Given the description of an element on the screen output the (x, y) to click on. 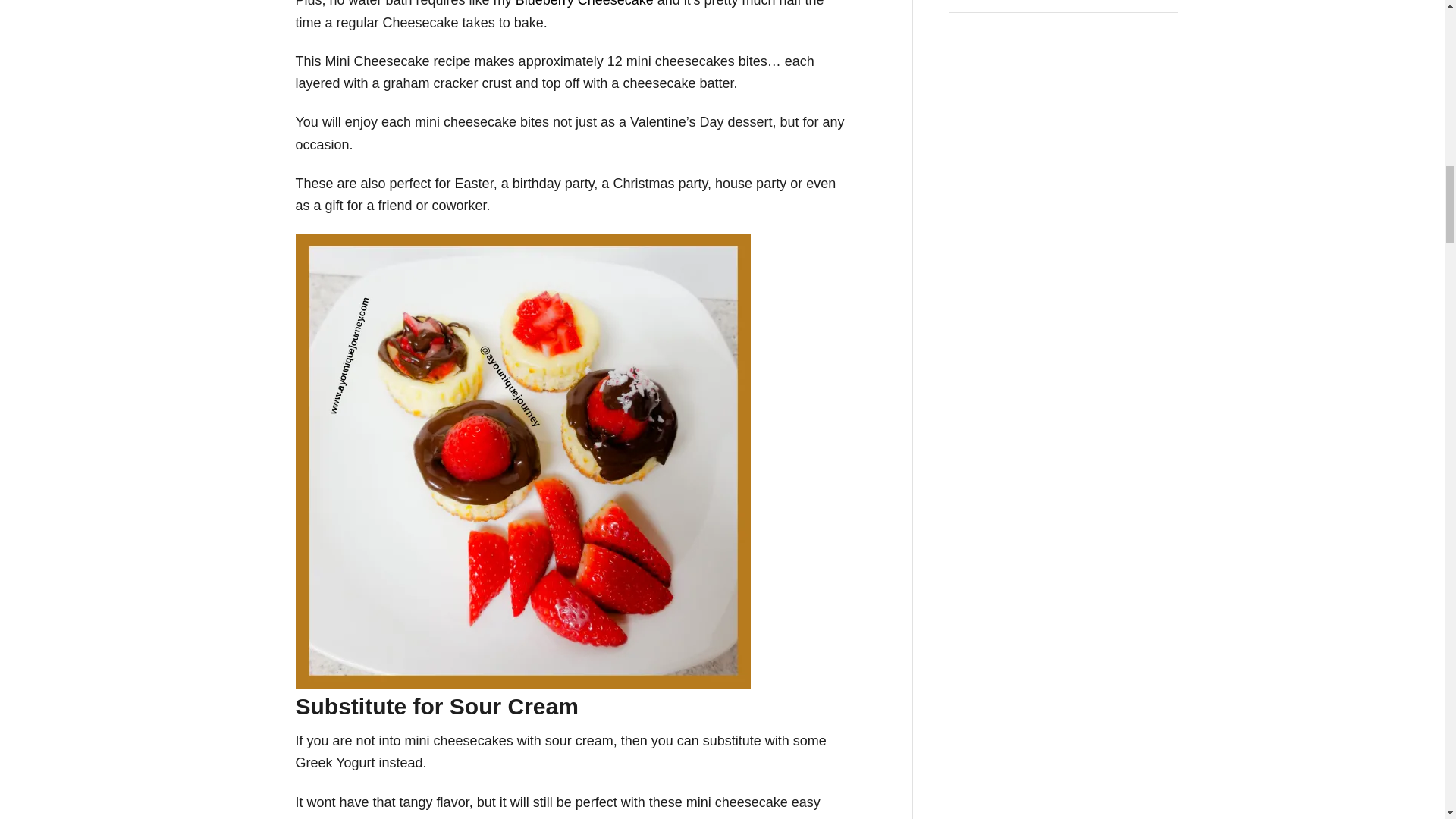
Blueberry Cheesecake (584, 3)
